Given the description of an element on the screen output the (x, y) to click on. 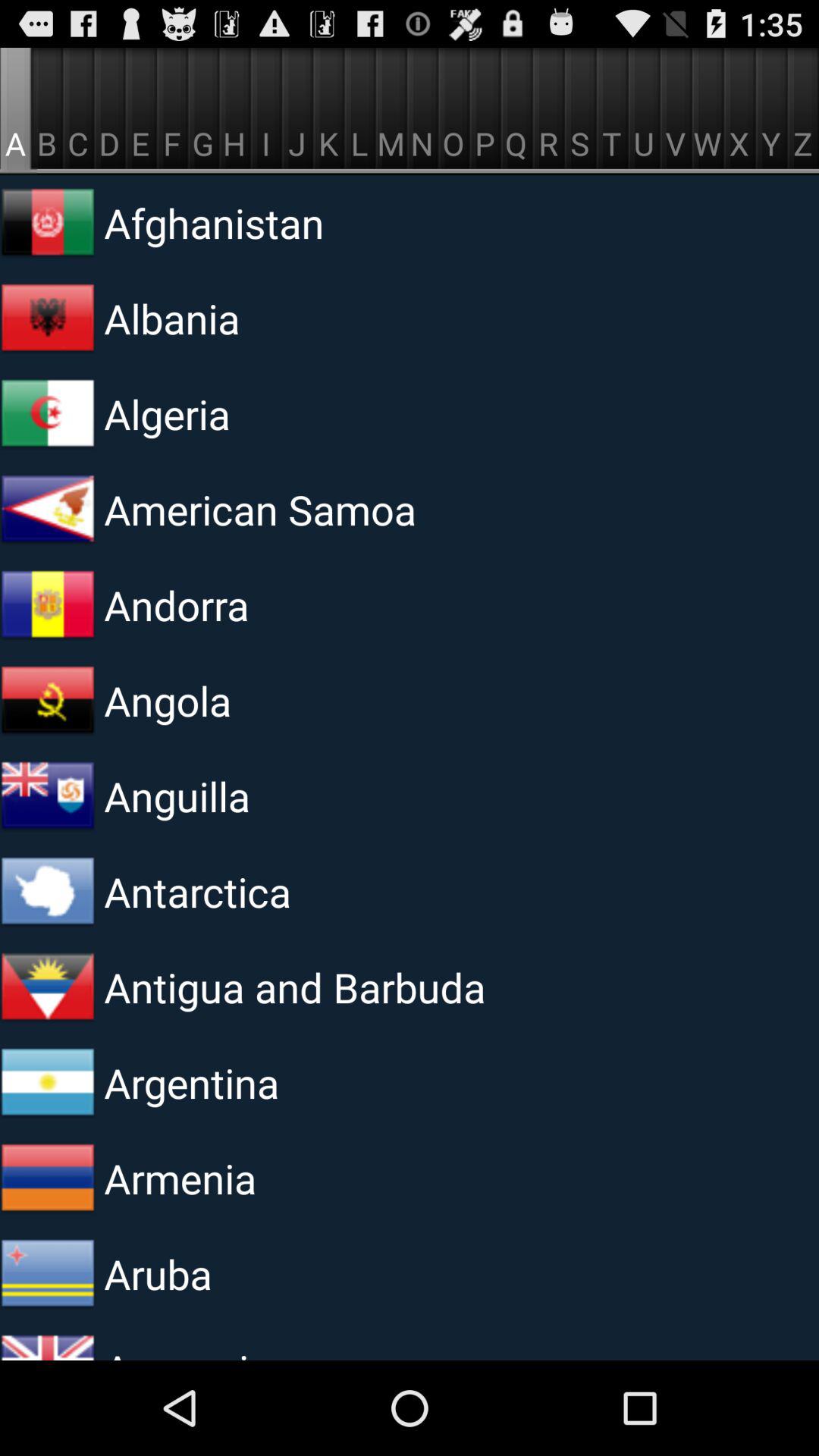
select icon next to the argentina (47, 1082)
